Given the description of an element on the screen output the (x, y) to click on. 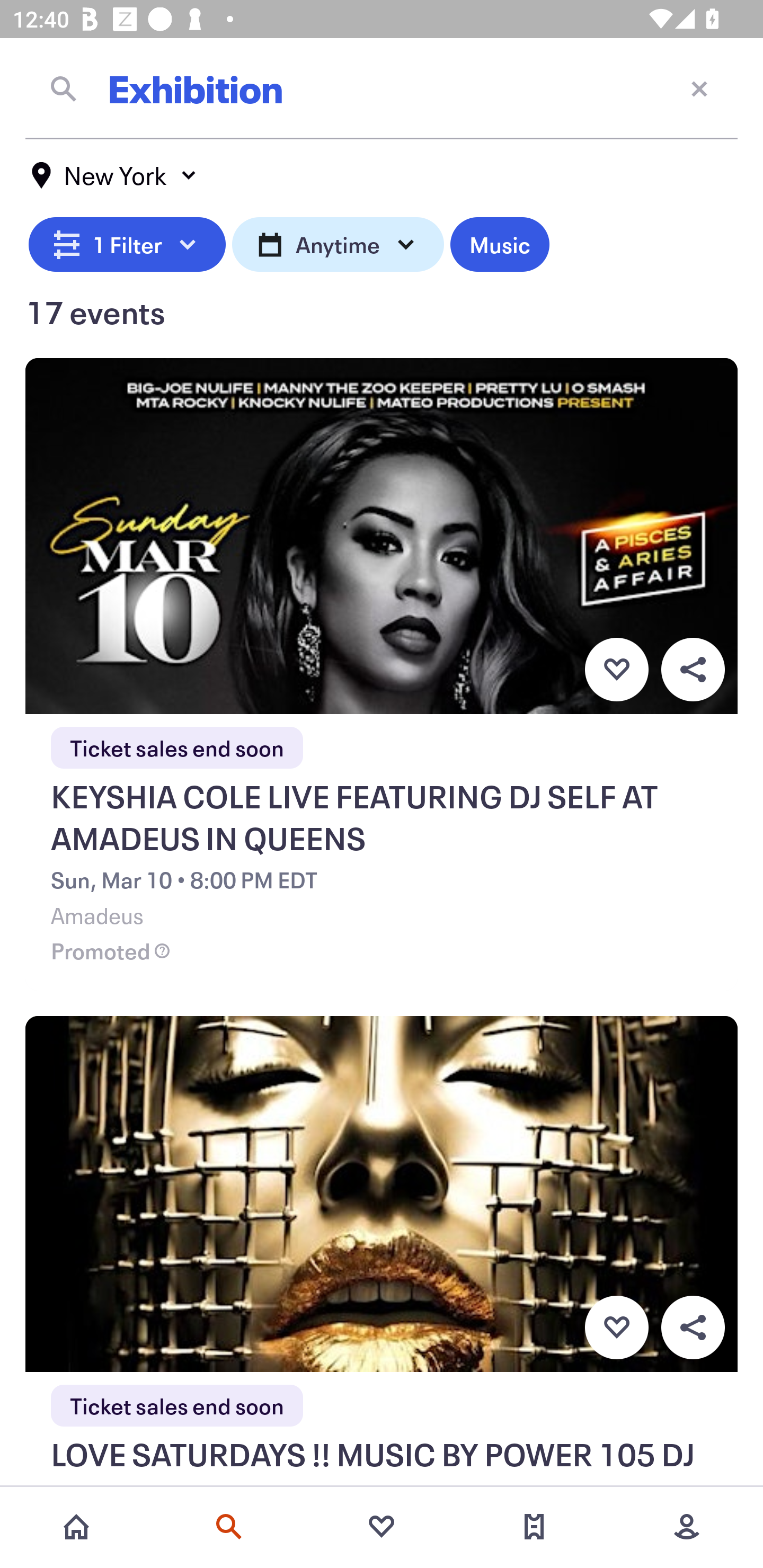
Exhibition Close current screen (381, 88)
Close current screen (699, 88)
New York (114, 175)
1 Filter (126, 241)
Anytime (337, 241)
Music (499, 241)
Favorite button (616, 669)
Overflow menu button (692, 669)
Favorite button (616, 1326)
Overflow menu button (692, 1326)
Home (76, 1526)
Search events (228, 1526)
Favorites (381, 1526)
Tickets (533, 1526)
More (686, 1526)
